Given the description of an element on the screen output the (x, y) to click on. 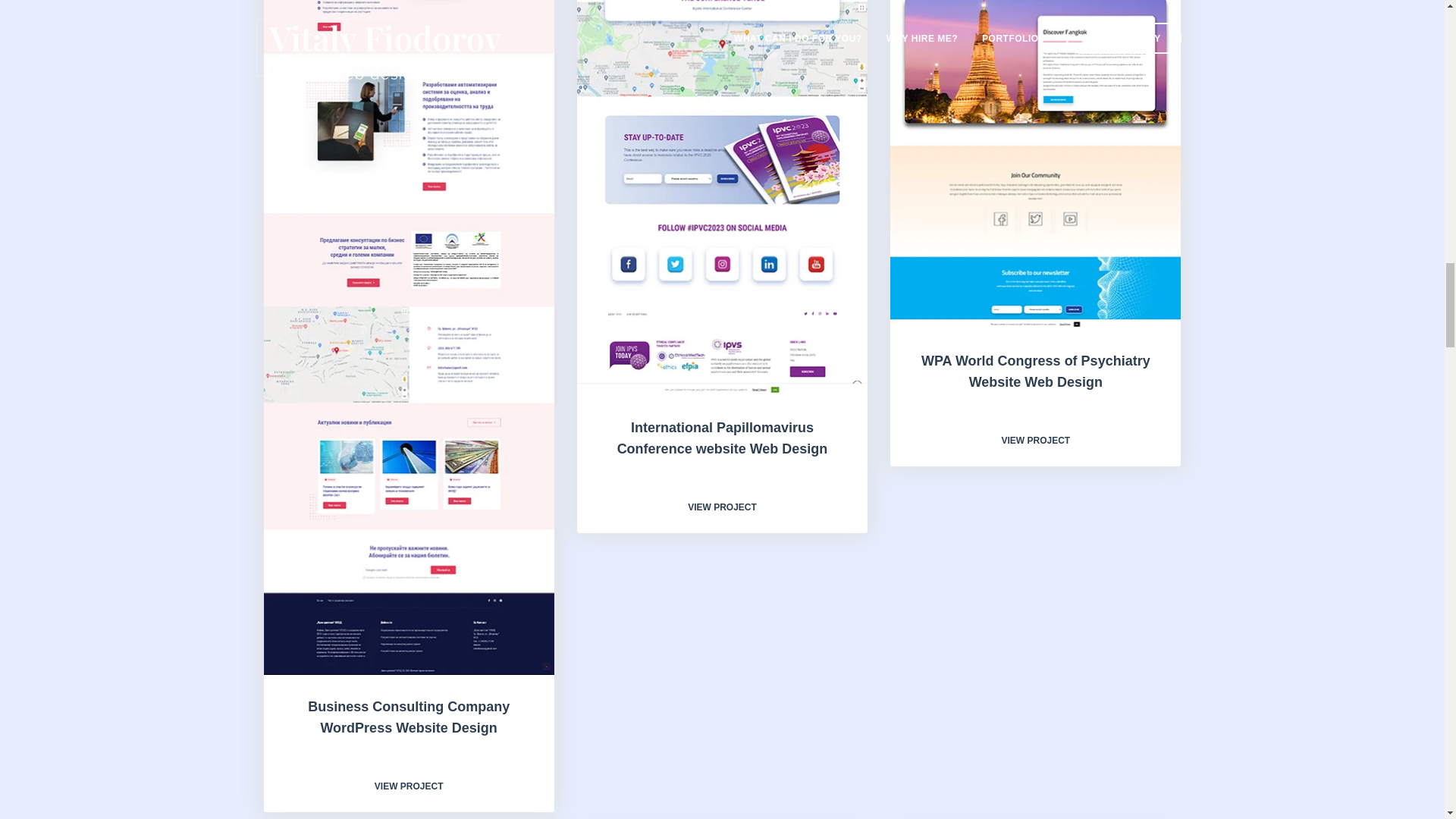
See the project (722, 506)
VIEW PROJECT (722, 506)
VIEW PROJECT (409, 786)
VIEW PROJECT (1035, 440)
